Given the description of an element on the screen output the (x, y) to click on. 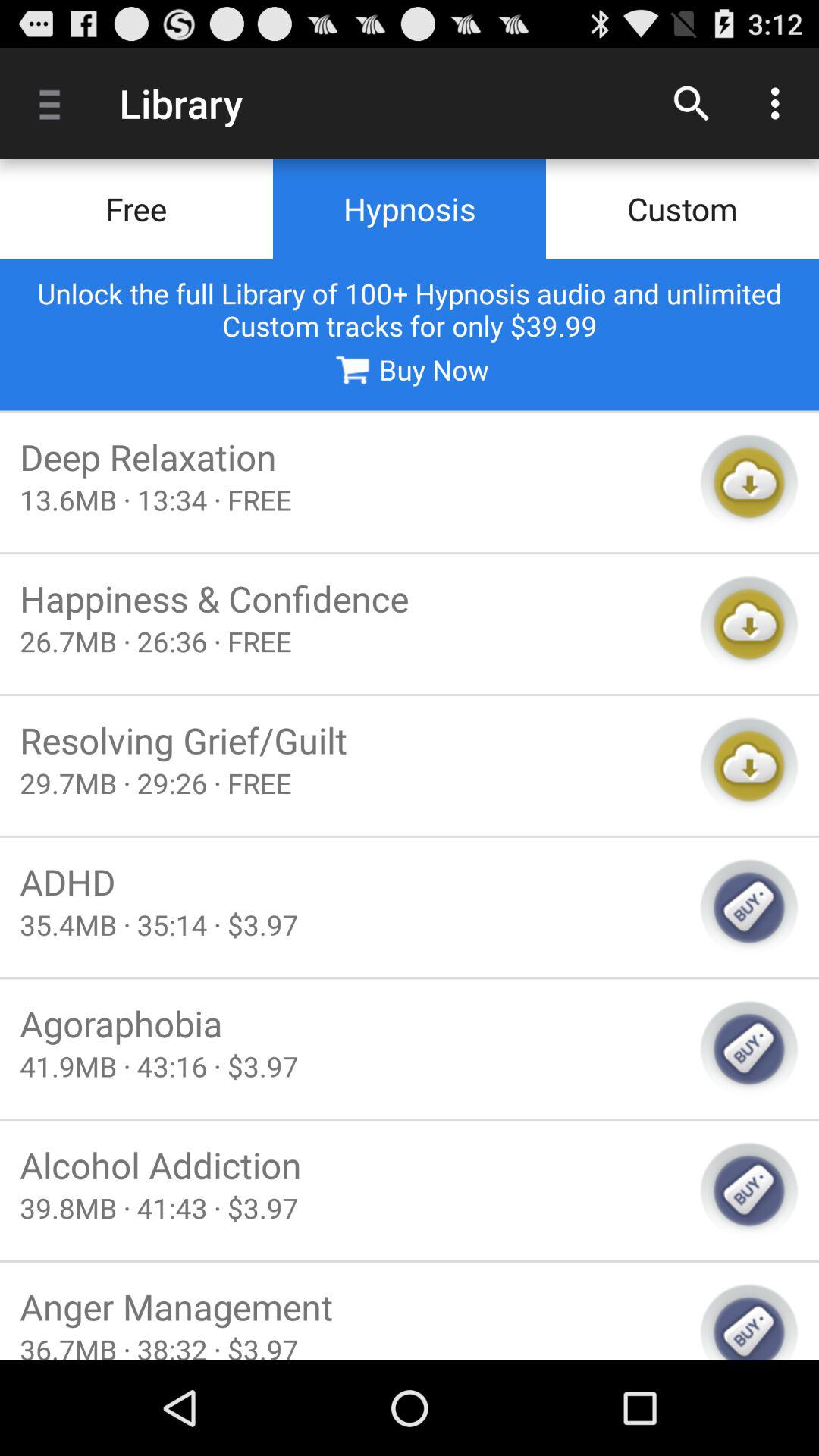
tap icon to the left of the library app (55, 103)
